Given the description of an element on the screen output the (x, y) to click on. 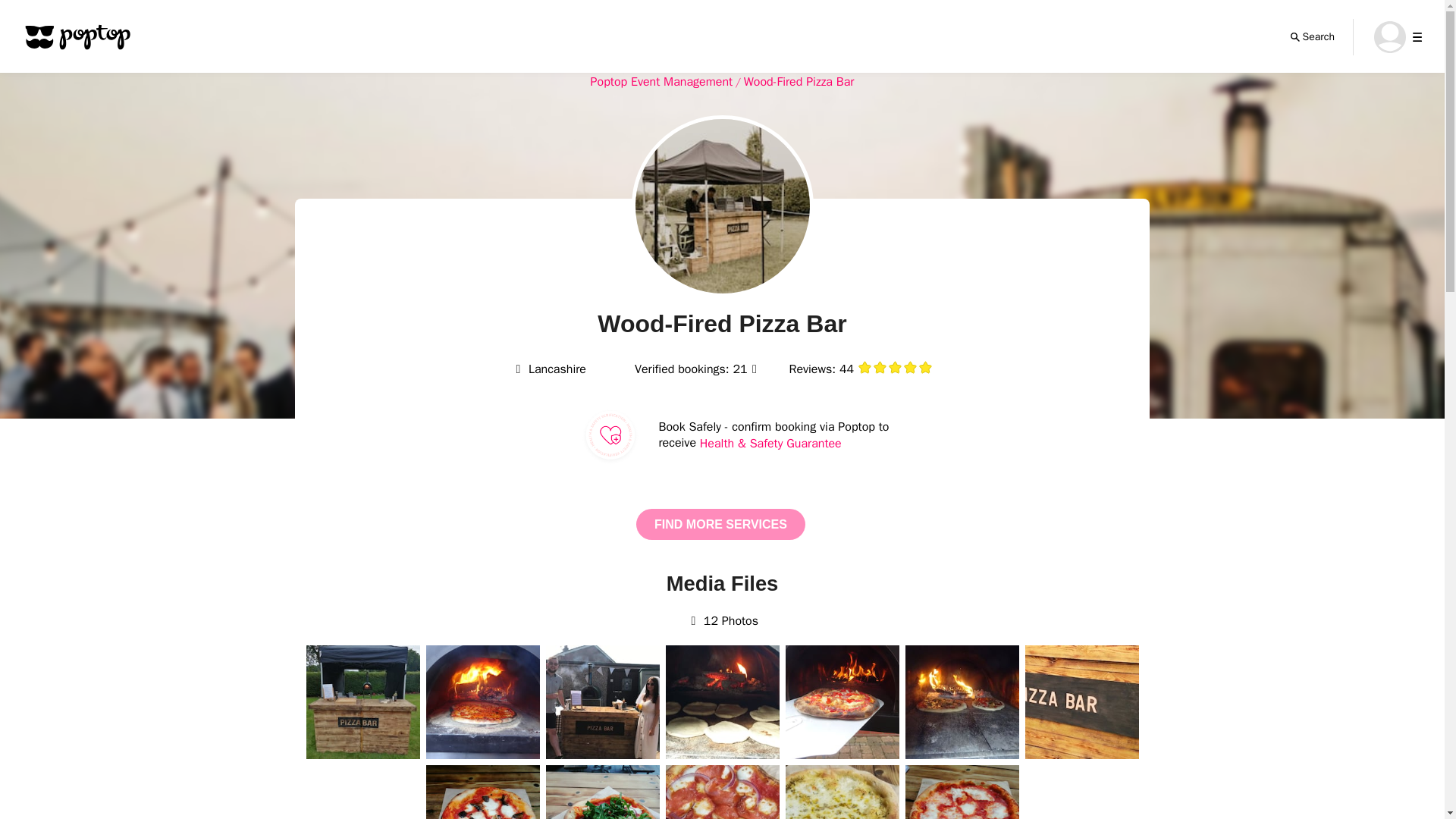
Wood-Fired Pizza Bar (799, 81)
Search (1311, 36)
FIND MORE SERVICES (720, 523)
Poptop Event Management (662, 81)
